Given the description of an element on the screen output the (x, y) to click on. 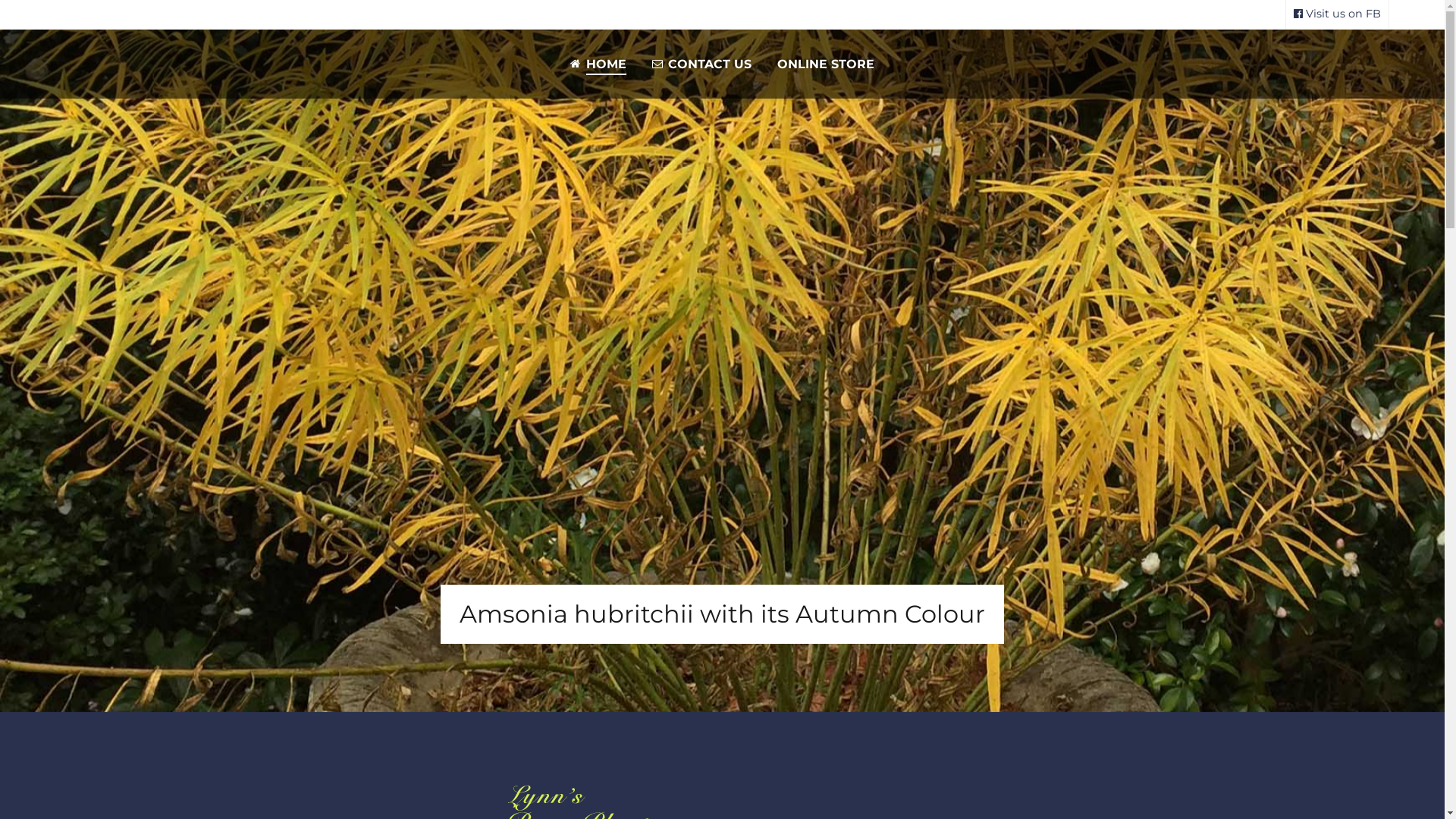
CONTACT US Element type: text (701, 63)
ONLINE STORE Element type: text (825, 63)
HOME Element type: text (597, 63)
PresData Services Element type: text (1345, 766)
Contact Us Form Element type: text (104, 600)
Visit us on FB Element type: text (1337, 14)
Office Use Only Element type: text (1358, 735)
